Given the description of an element on the screen output the (x, y) to click on. 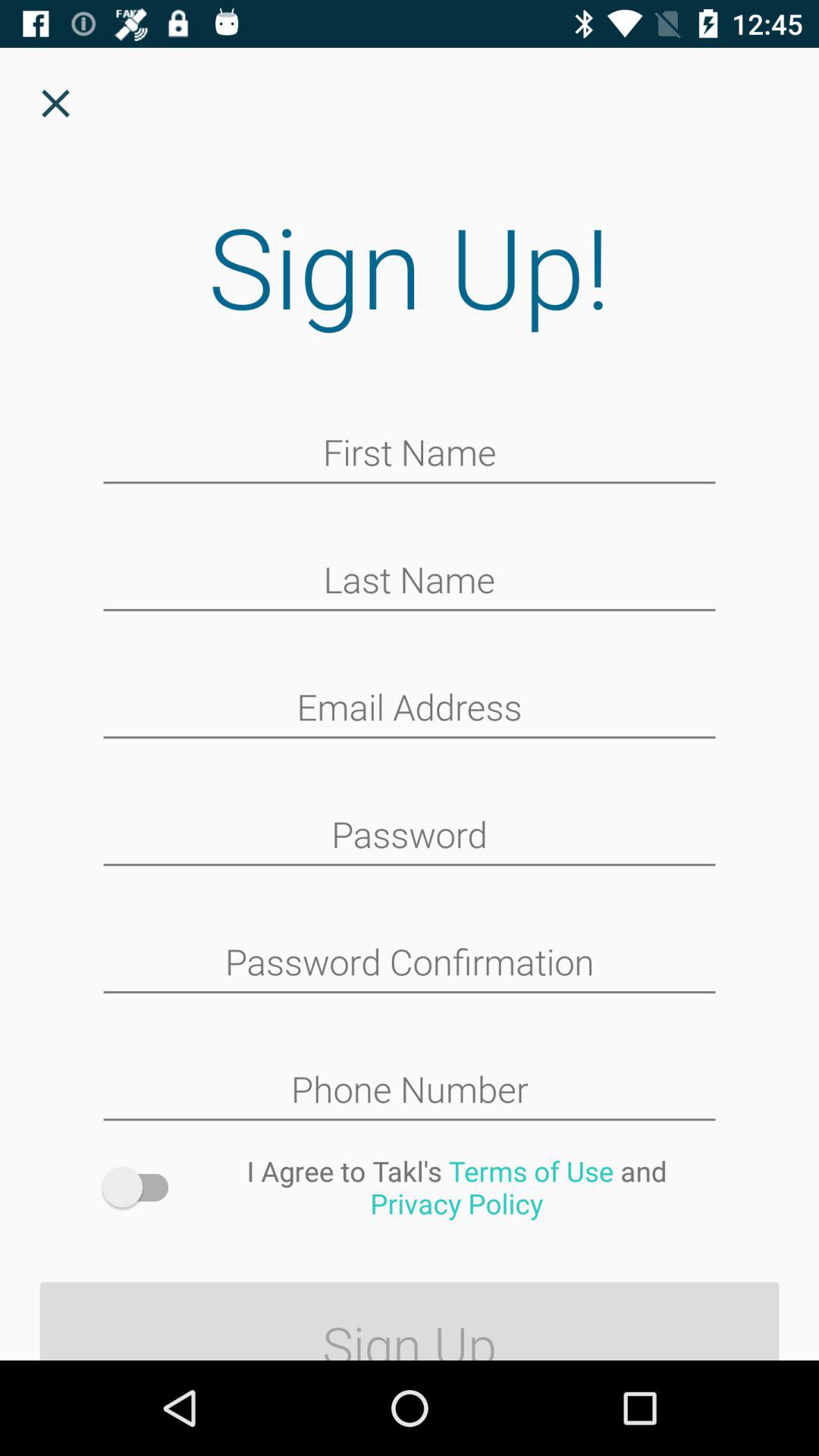
enter e-mail adress (409, 709)
